Given the description of an element on the screen output the (x, y) to click on. 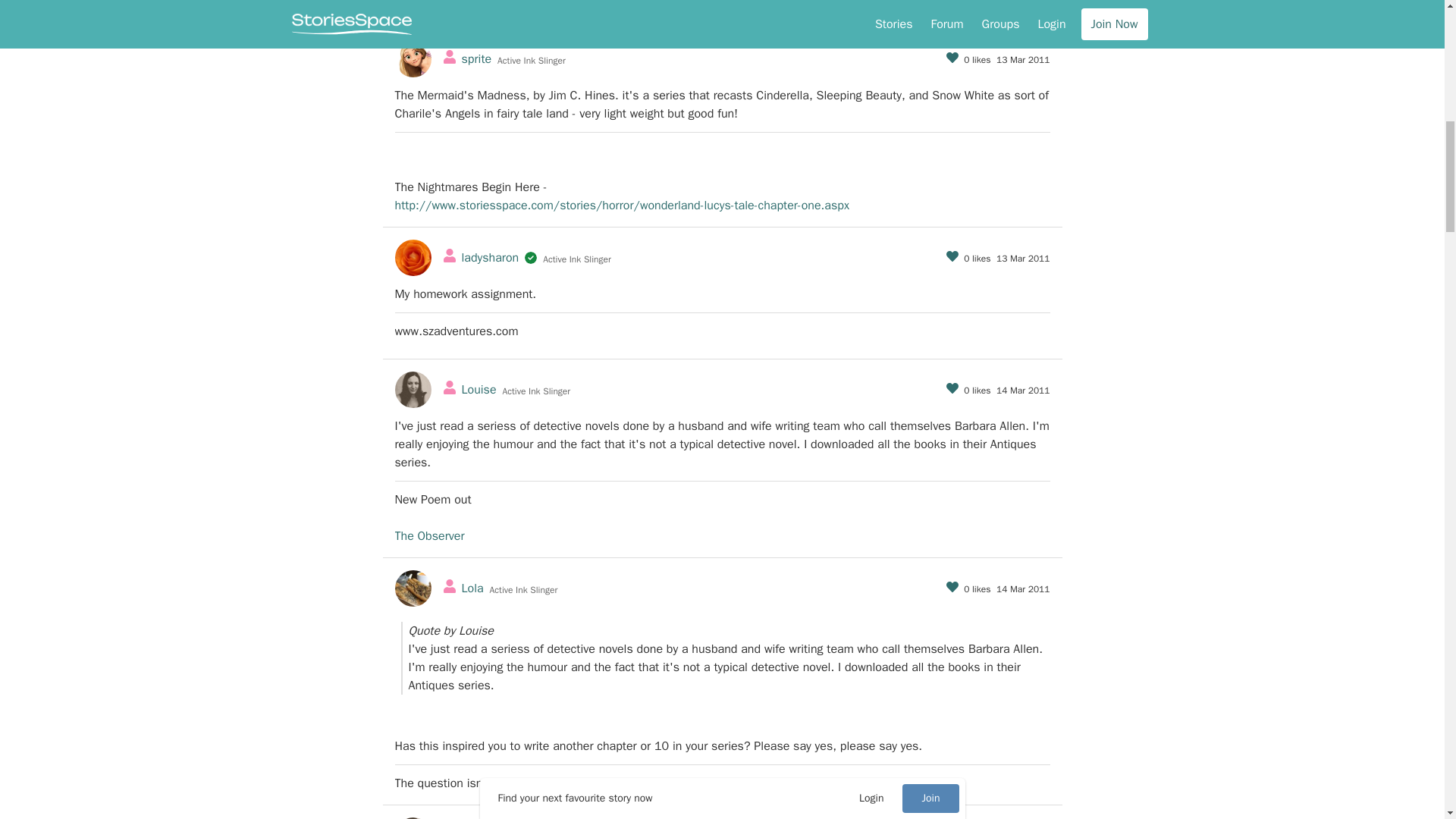
ladysharon (489, 257)
The Observer (429, 534)
sprite (476, 58)
Louise (478, 389)
Lola (472, 588)
